Given the description of an element on the screen output the (x, y) to click on. 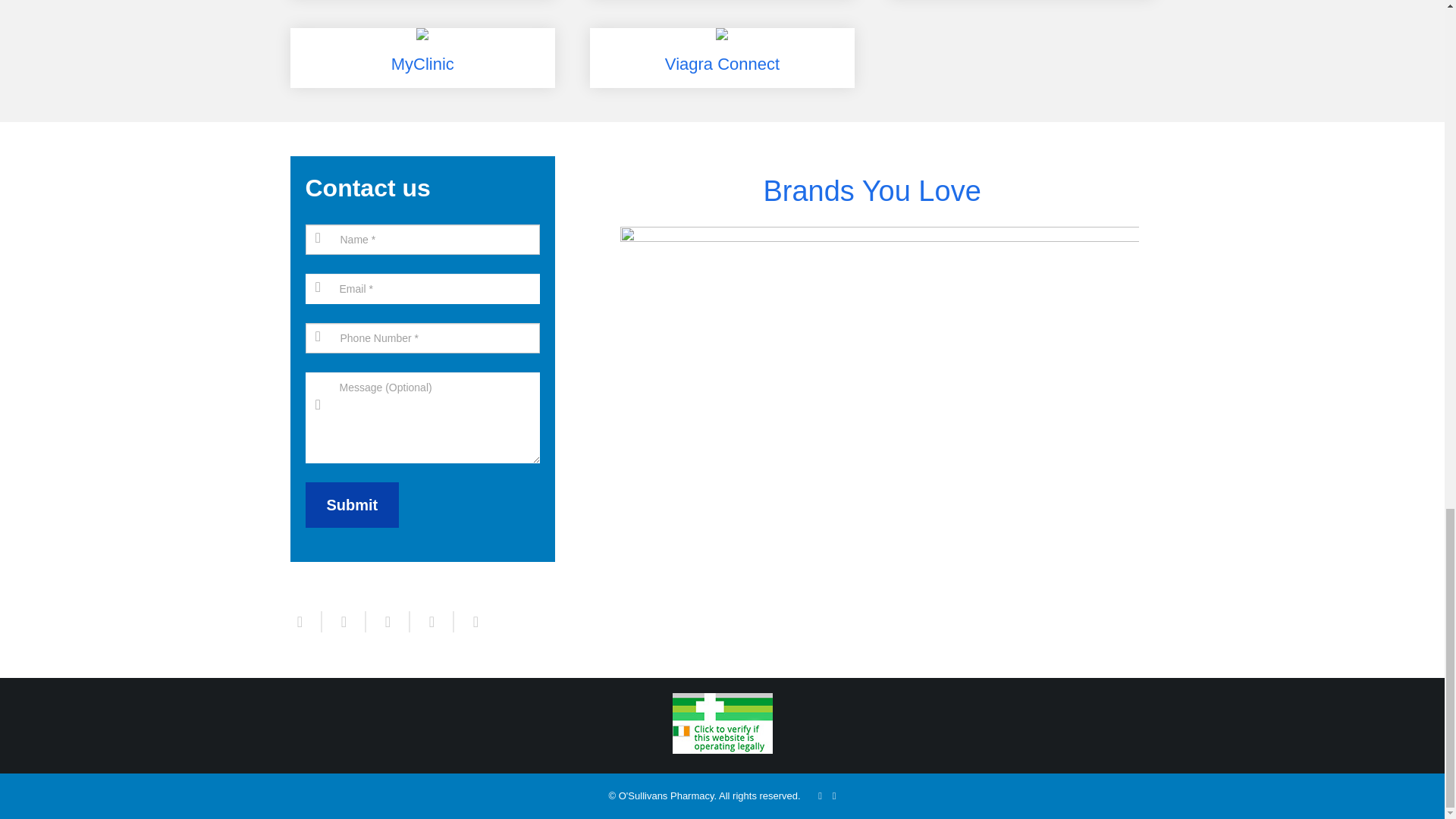
Submit (351, 504)
Pin this (468, 621)
Share this (430, 621)
Share this (305, 621)
Tweet this (343, 621)
MyClinic (421, 57)
Viagra Connect (722, 57)
Submit (351, 504)
MyClinic (421, 57)
